Given the description of an element on the screen output the (x, y) to click on. 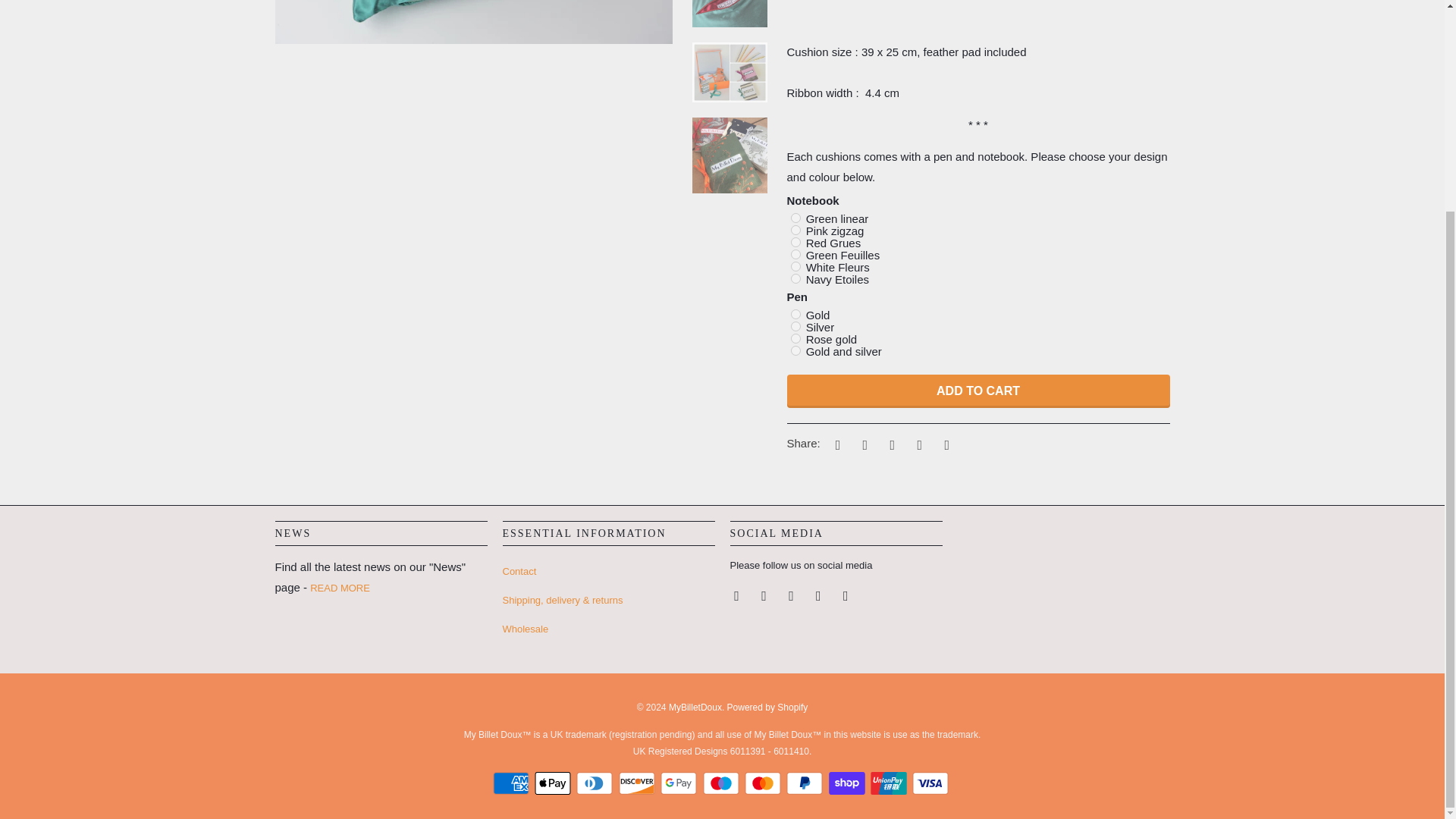
Pink zigzag (794, 230)
Gold (794, 314)
Mastercard (764, 783)
Diners Club (595, 783)
Shop Pay (847, 783)
Share this on Twitter (835, 444)
Union Pay (890, 783)
Google Pay (680, 783)
Share this on Facebook (862, 444)
Green linear (794, 217)
American Express (512, 783)
Navy Etoiles (794, 278)
Rose gold (794, 338)
Apple Pay (553, 783)
Gold and silver (794, 350)
